Given the description of an element on the screen output the (x, y) to click on. 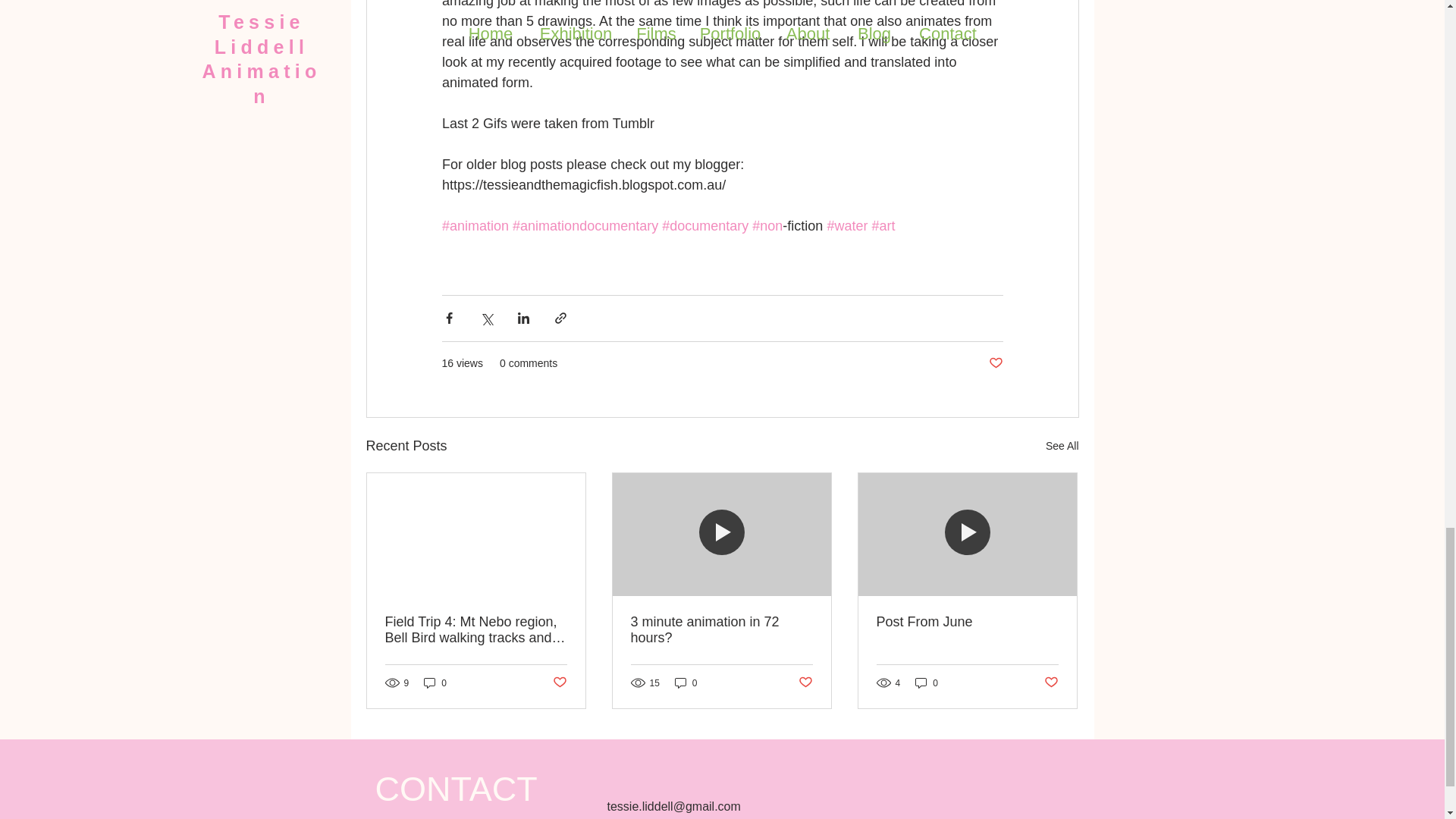
Post not marked as liked (995, 363)
Post not marked as liked (558, 682)
0 (435, 682)
See All (1061, 445)
3 minute animation in 72 hours? (721, 630)
